Given the description of an element on the screen output the (x, y) to click on. 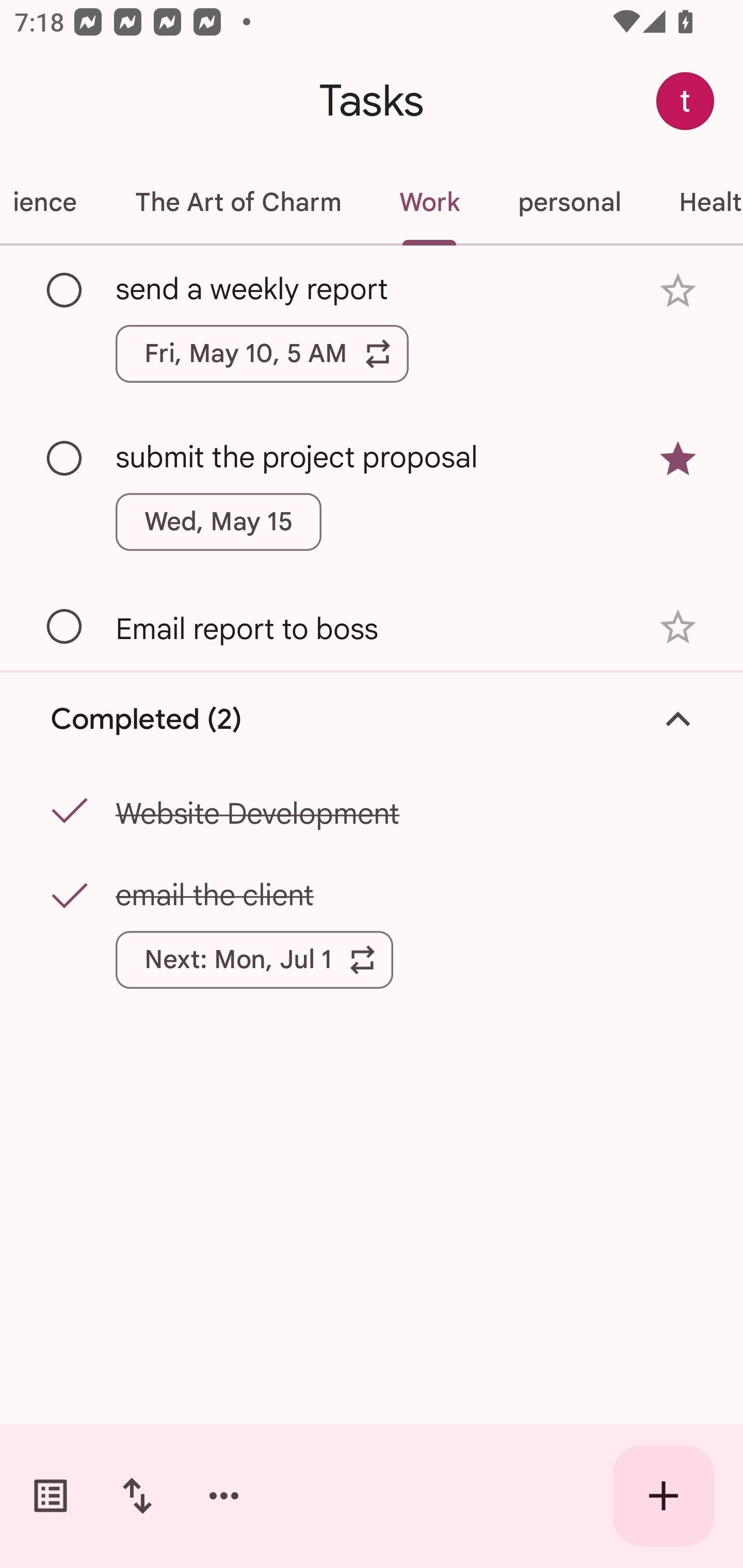
The Joe Rogan Experience (52, 202)
The Art of Charm (237, 202)
personal (568, 202)
Health (696, 202)
Add star (677, 290)
Mark as complete (64, 290)
Fri, May 10, 5 AM (261, 353)
Remove star (677, 458)
Mark as complete (64, 459)
Wed, May 15 (218, 522)
Add star (677, 627)
Mark as complete (64, 627)
Completed (2) (371, 719)
Mark as not complete (64, 812)
Mark as not complete (64, 896)
Next: Mon, Jul 1 (254, 960)
Switch task lists (50, 1495)
Create new task (663, 1495)
Change sort order (136, 1495)
More options (223, 1495)
